Given the description of an element on the screen output the (x, y) to click on. 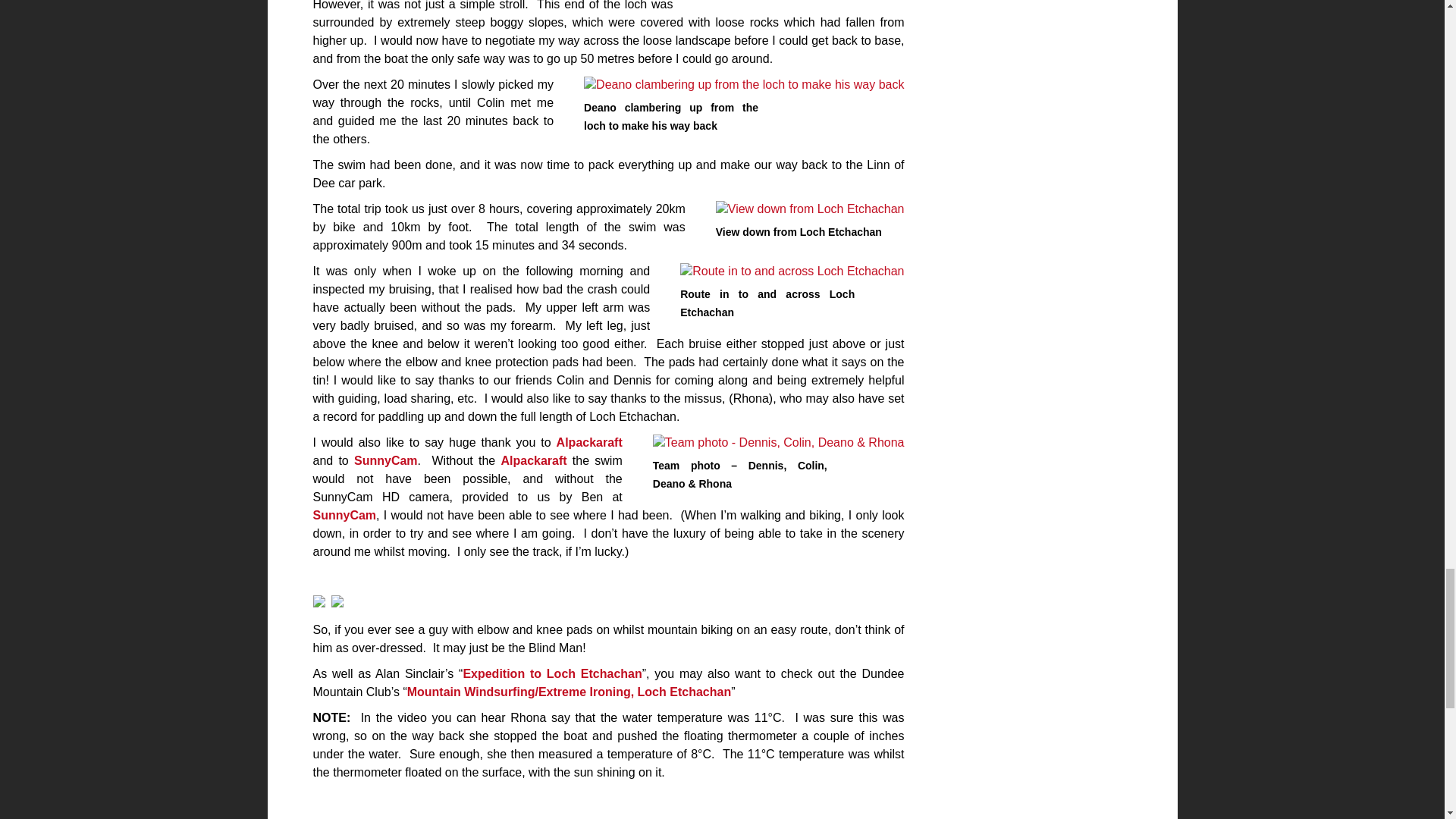
Alpackaraft.com (589, 441)
SunnyCamGlasses.com (385, 460)
Alpackaraft.com (533, 460)
Expedition to Loch Etchachan (552, 673)
SunnyCamGlasses.com (344, 514)
